Given the description of an element on the screen output the (x, y) to click on. 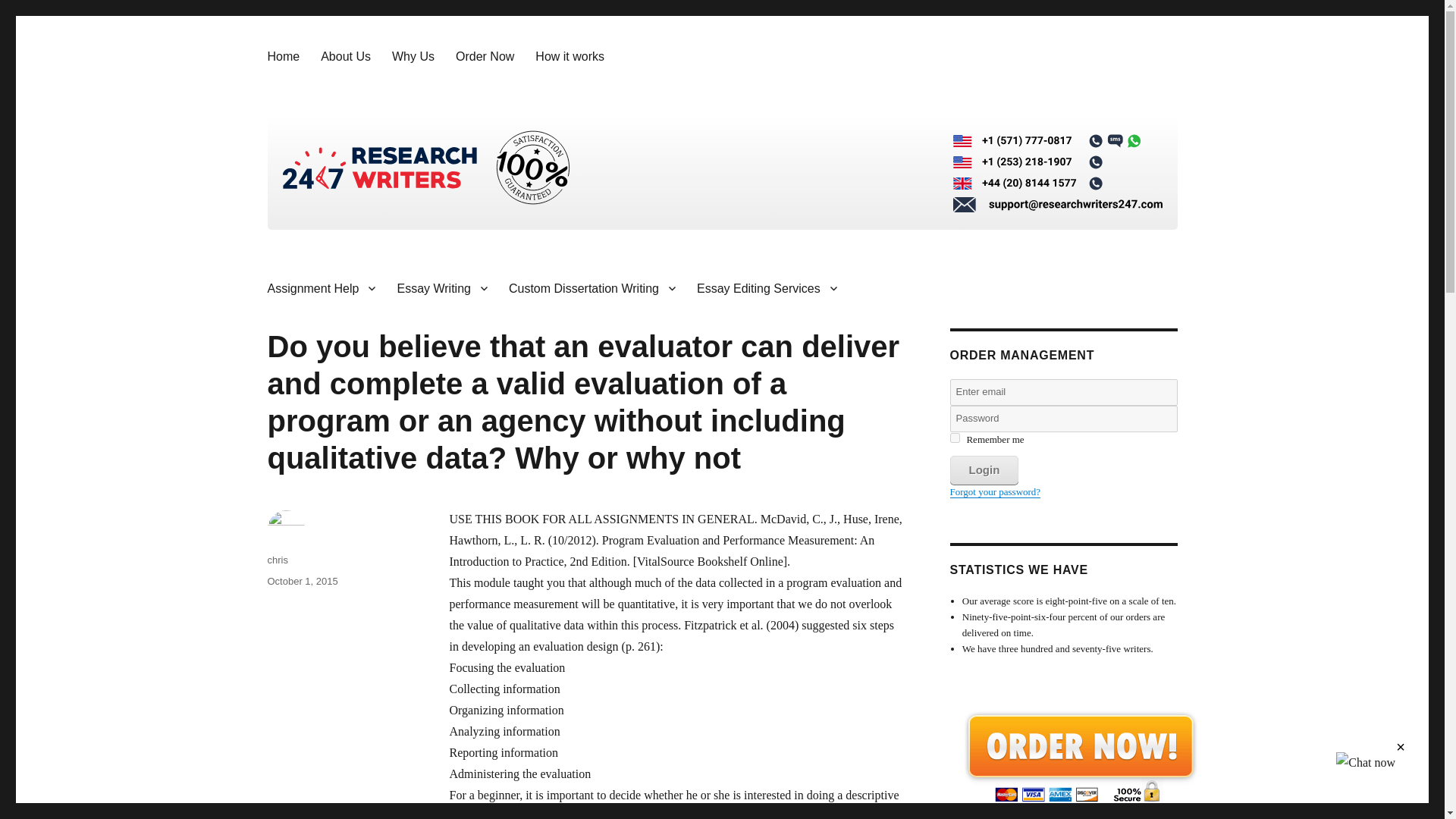
Home (283, 56)
on (954, 438)
Assignment Help (320, 287)
Click to Order (1079, 756)
About Us (345, 56)
Custom Dissertation Writing (591, 287)
Why Us (413, 56)
Essay Editing Services (766, 287)
How it works (569, 56)
Essay Writing (441, 287)
Order Now (484, 56)
click to Login (983, 469)
Recover password (995, 491)
